Given the description of an element on the screen output the (x, y) to click on. 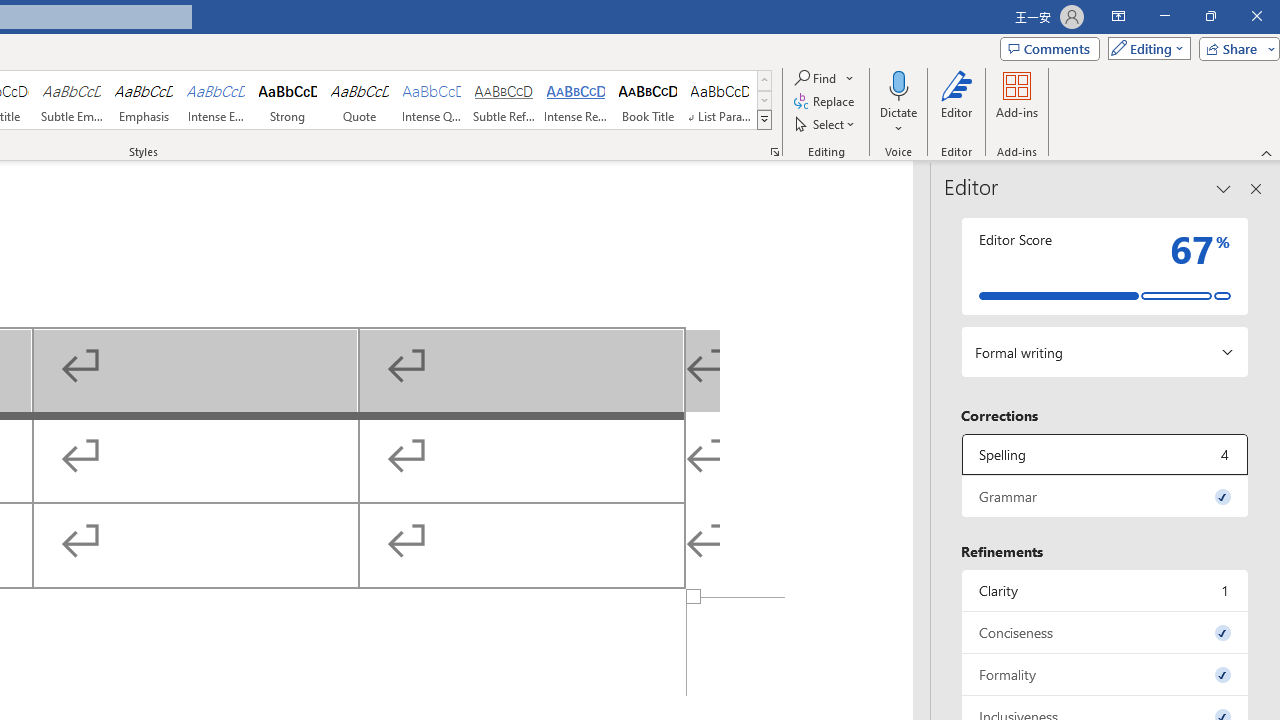
Row Down (763, 100)
Grammar, 0 issues. Press space or enter to review items. (1105, 495)
Replace... (826, 101)
Intense Quote (431, 100)
Emphasis (143, 100)
Styles (763, 120)
Select (826, 124)
